Given the description of an element on the screen output the (x, y) to click on. 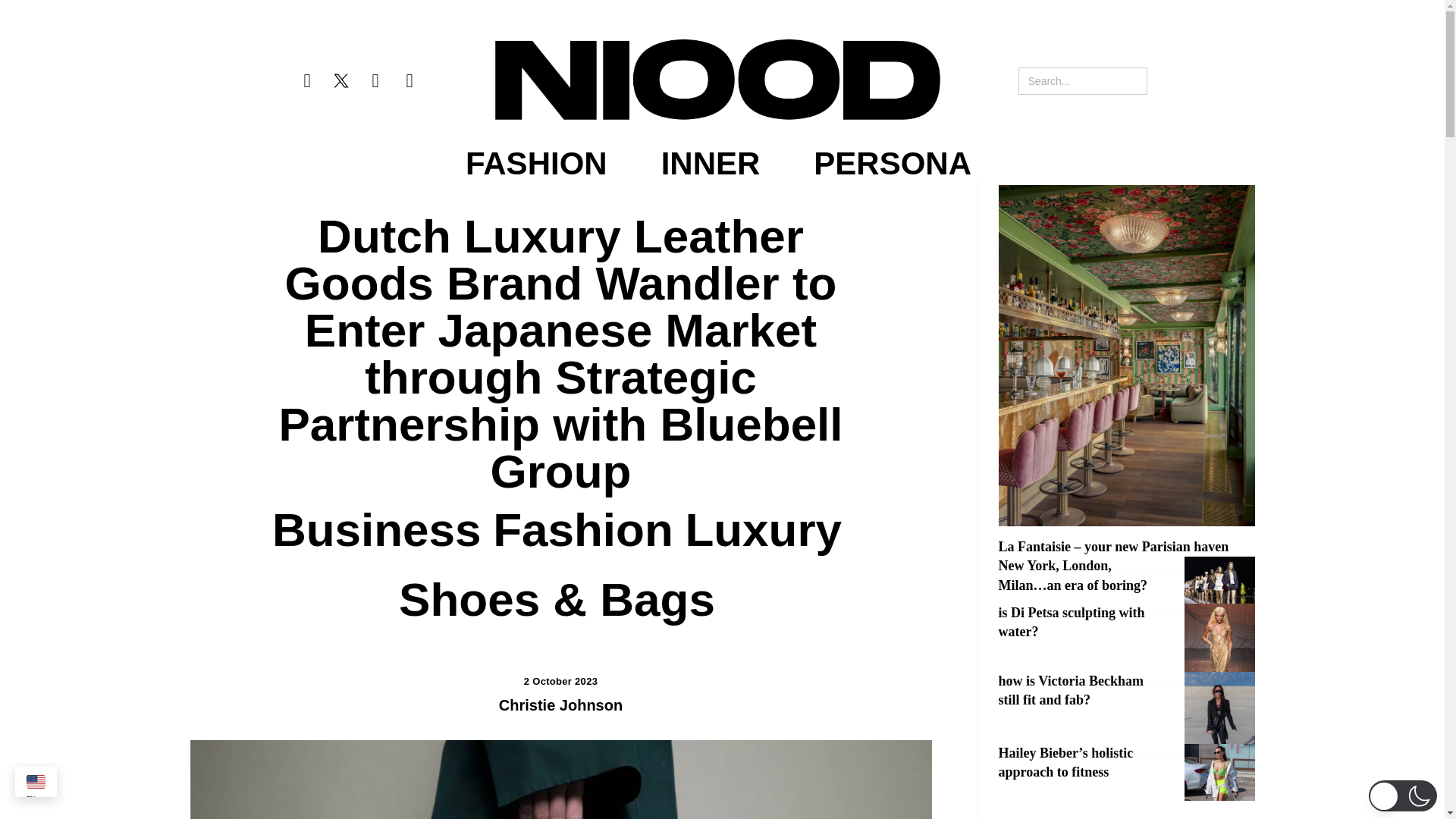
Business (376, 529)
Luxury (762, 529)
Christie Johnson (561, 705)
FASHION (536, 163)
Fashion (582, 529)
PERSONA (892, 163)
INNER (710, 163)
